Given the description of an element on the screen output the (x, y) to click on. 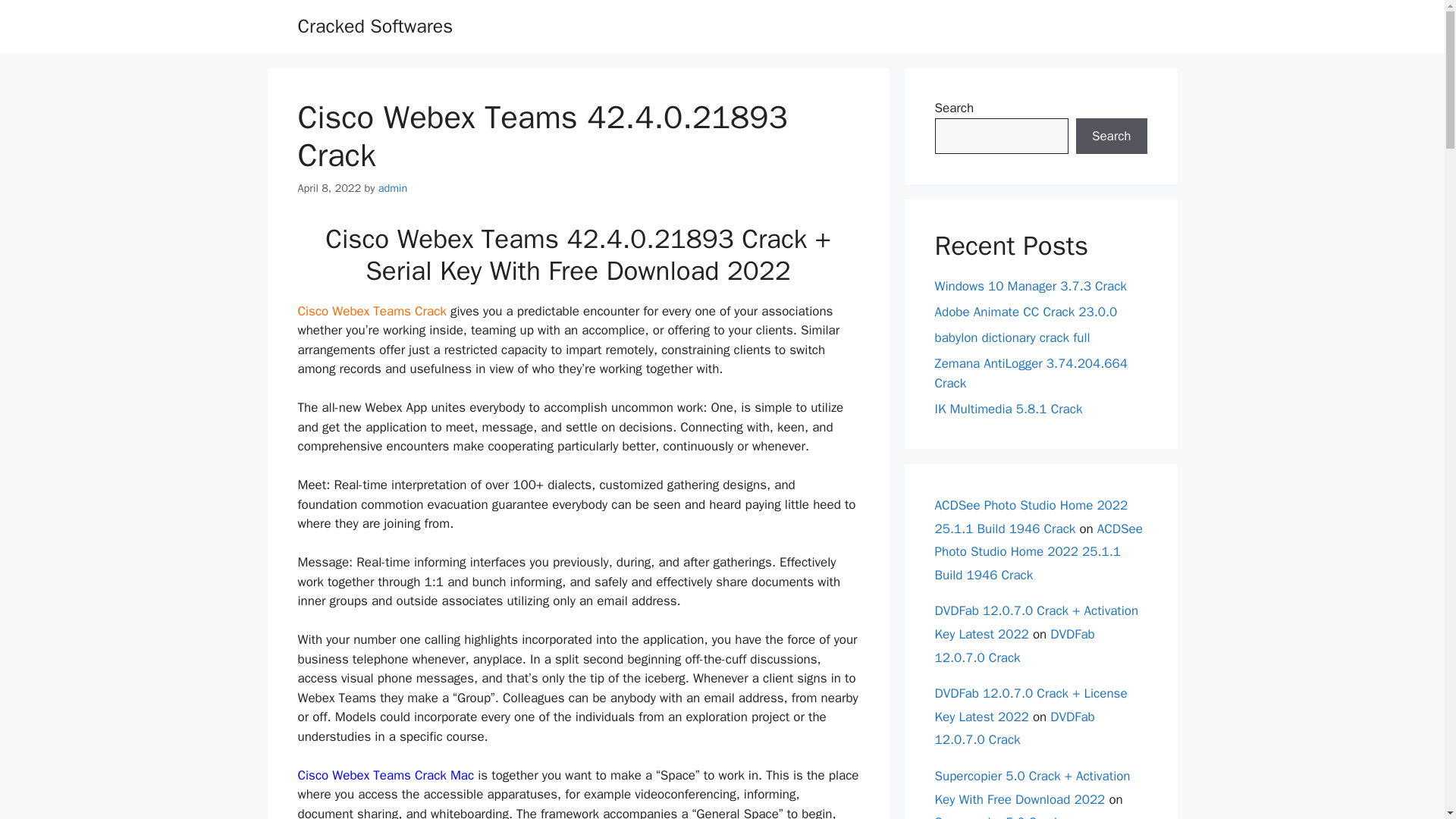
DVDFab 12.0.7.0 Crack (1014, 728)
admin (392, 187)
Windows 10 Manager 3.7.3 Crack (1029, 286)
Supercopier 5.0 Crack (996, 816)
ACDSee Photo Studio Home 2022 25.1.1 Build 1946 Crack (1037, 551)
View all posts by admin (392, 187)
Adobe Animate CC Crack 23.0.0 (1025, 311)
Cracked Softwares (374, 25)
Search (1111, 135)
Zemana AntiLogger 3.74.204.664 Crack (1030, 373)
